Given the description of an element on the screen output the (x, y) to click on. 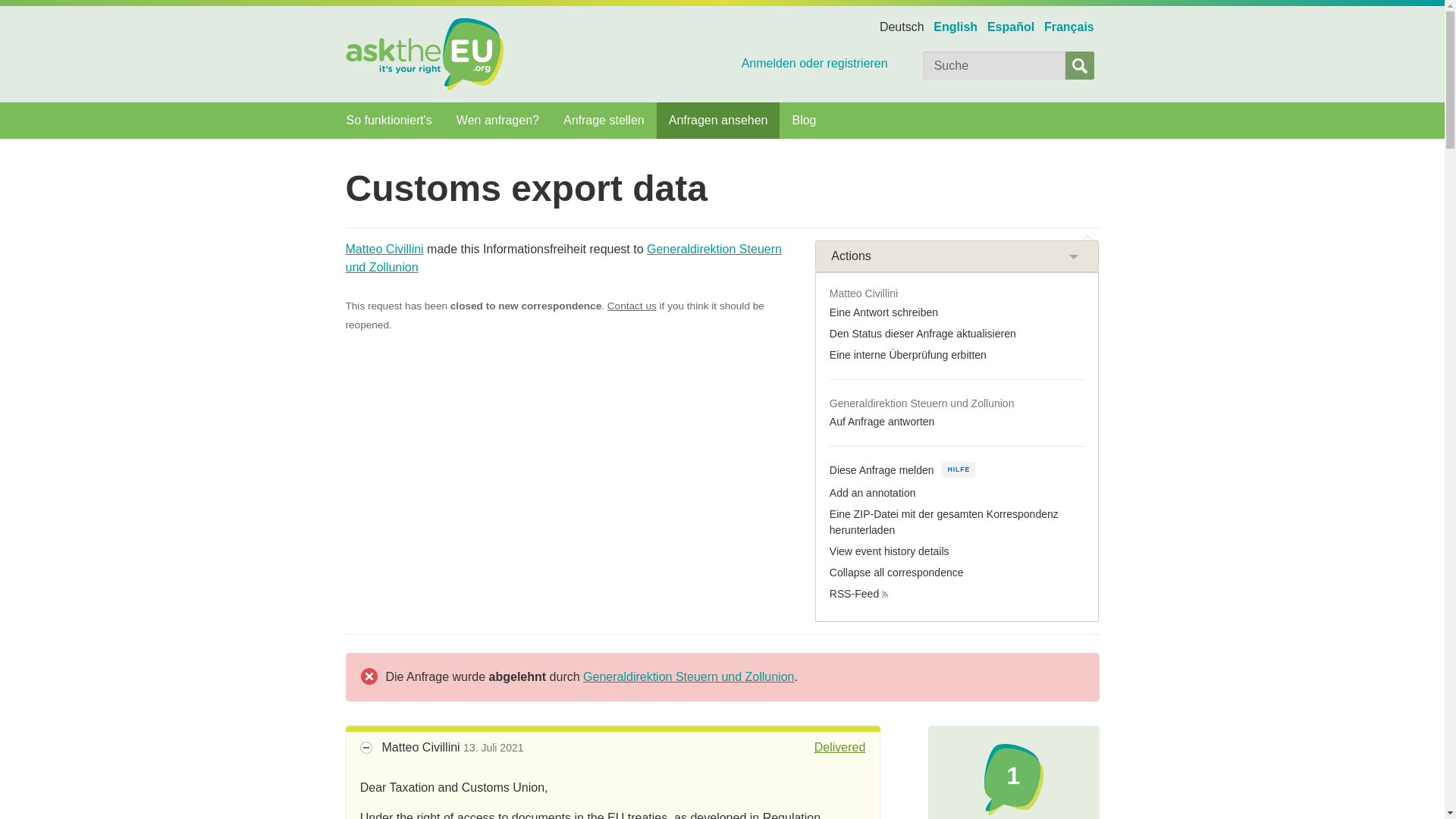
Actions (957, 255)
RSS-Feed (854, 593)
Matteo Civillini (384, 248)
Eine ZIP-Datei mit der gesamten Korrespondenz herunterladen (943, 521)
Geben Sie Ihren Suchbegriff hier ein (994, 65)
AsktheEU.org (424, 54)
So funktioniert's (388, 120)
View event history details (889, 551)
Den Status dieser Anfrage aktualisieren (922, 333)
Anfragen ansehen (718, 120)
Blog (803, 120)
Add an annotation (872, 492)
Collapse all correspondence (896, 572)
English (955, 27)
Suchanfrage absenden (1079, 65)
